Given the description of an element on the screen output the (x, y) to click on. 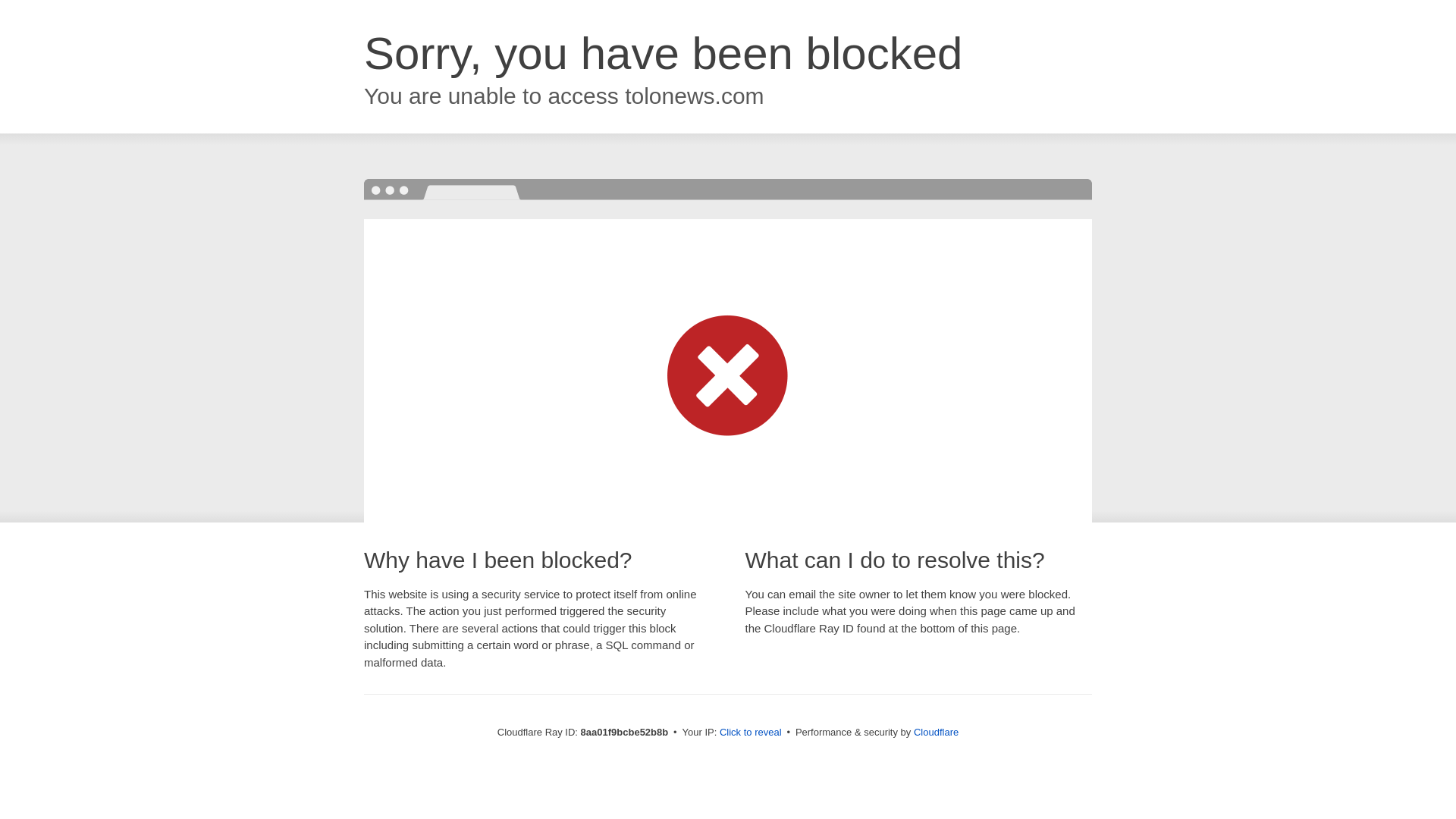
Cloudflare (936, 731)
Click to reveal (750, 732)
